Given the description of an element on the screen output the (x, y) to click on. 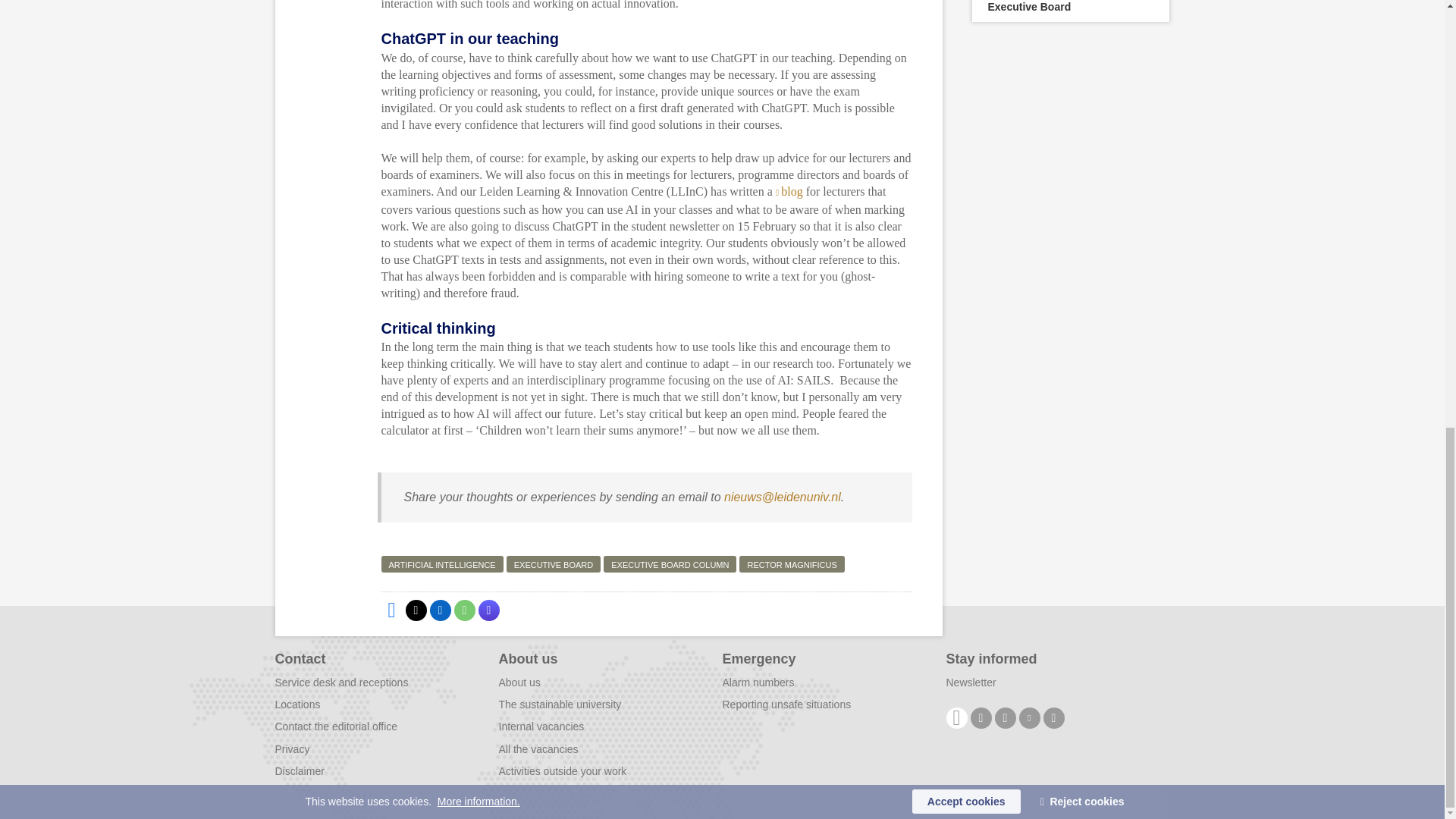
blog (789, 191)
Share by Mastodon (488, 609)
Share on Facebook (390, 609)
Share on X (415, 609)
RECTOR MAGNIFICUS (791, 564)
ARTIFICIAL INTELLIGENCE (441, 564)
Share by WhatsApp (463, 609)
EXECUTIVE BOARD COLUMN (670, 564)
Share on LinkedIn (439, 609)
EXECUTIVE BOARD (553, 564)
